Given the description of an element on the screen output the (x, y) to click on. 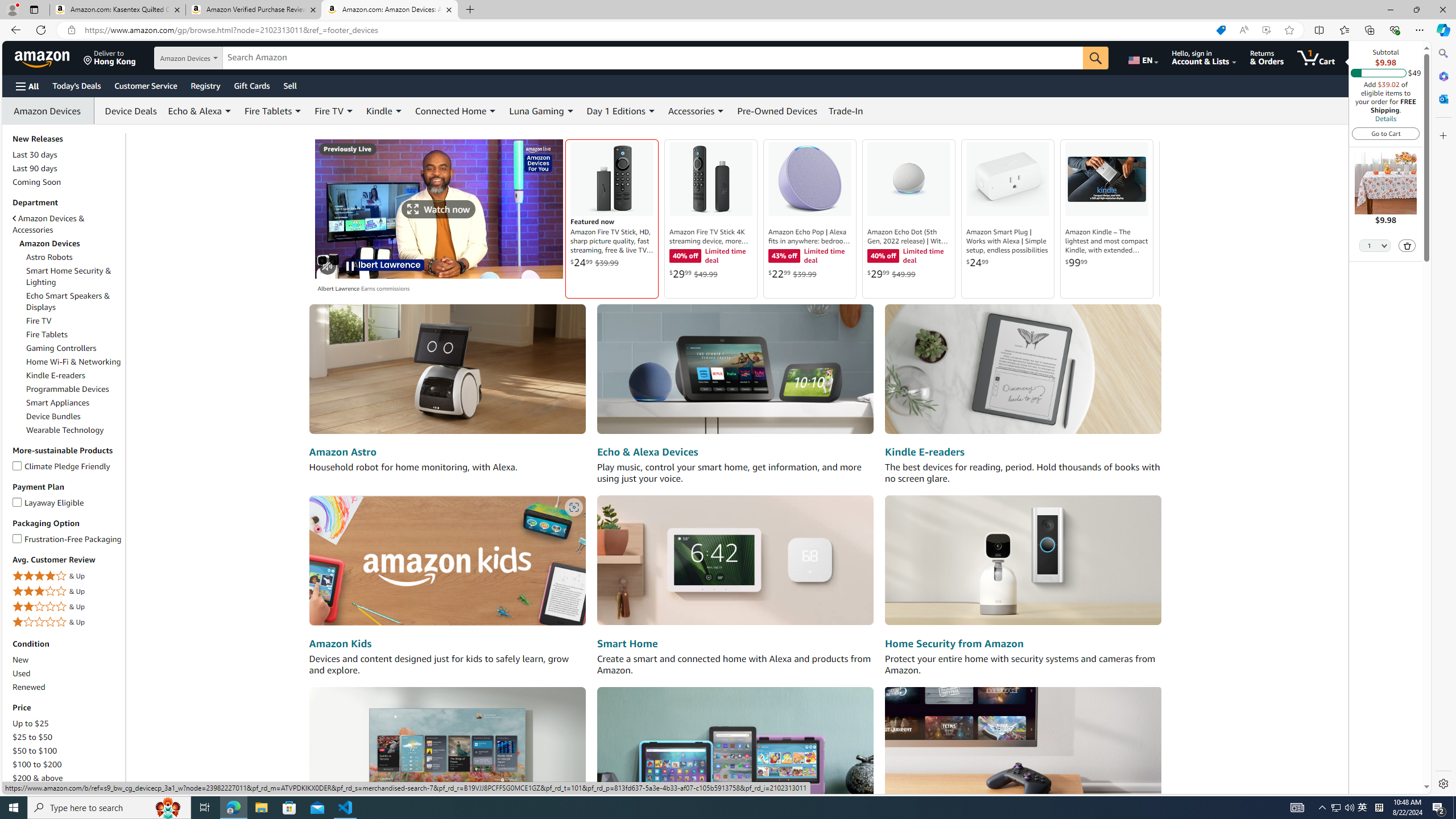
Day 1 Editions (621, 110)
Wearable Technology (64, 429)
Kindle E-readers (923, 451)
$50 to $100 (34, 750)
$25 to $50 (32, 737)
New (21, 659)
2 Stars & Up& Up (67, 606)
Last 90 days (34, 167)
